Given the description of an element on the screen output the (x, y) to click on. 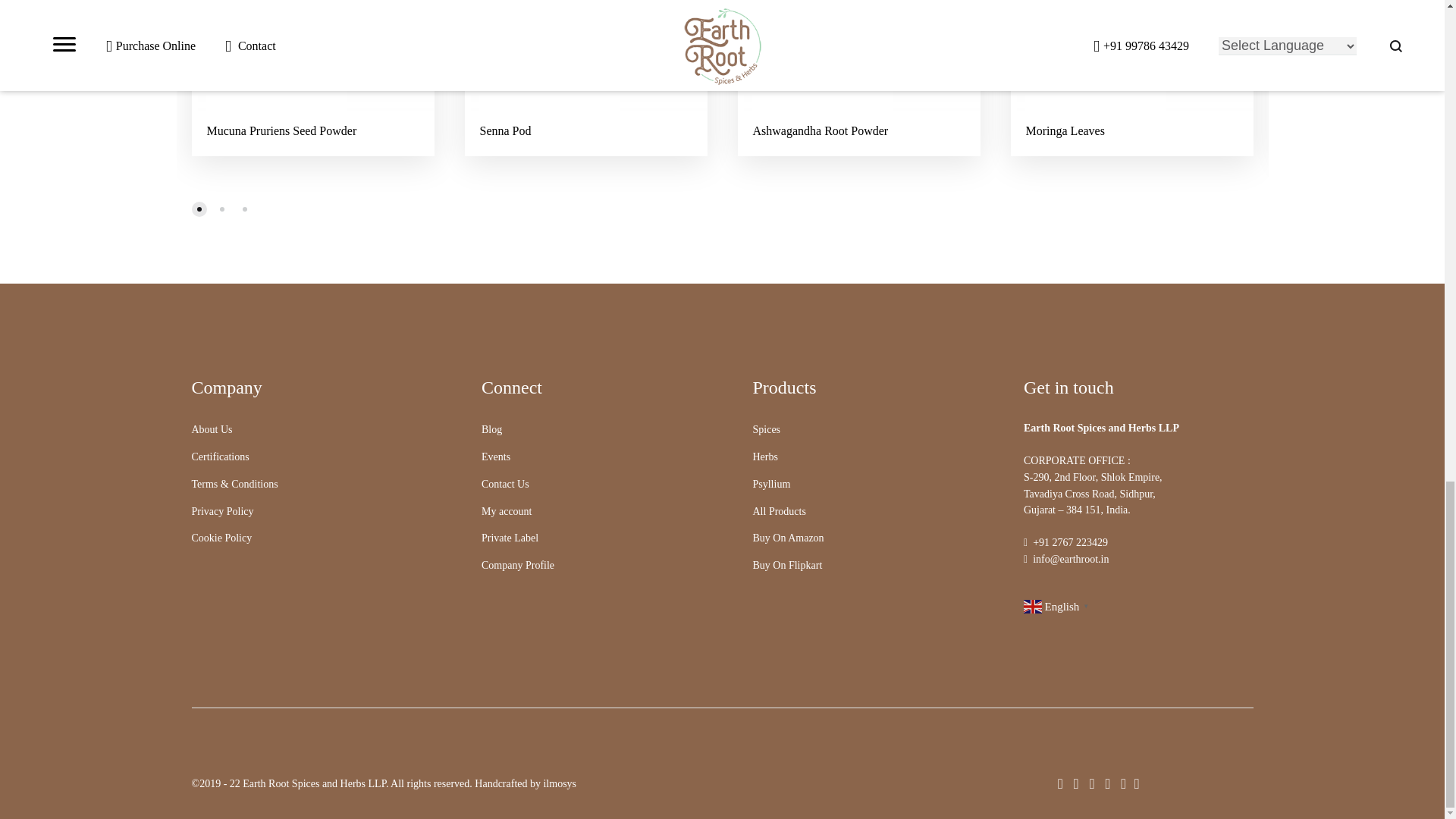
Mucuna Pruriens Seed Powder (281, 130)
Senna Pod (505, 130)
